Given the description of an element on the screen output the (x, y) to click on. 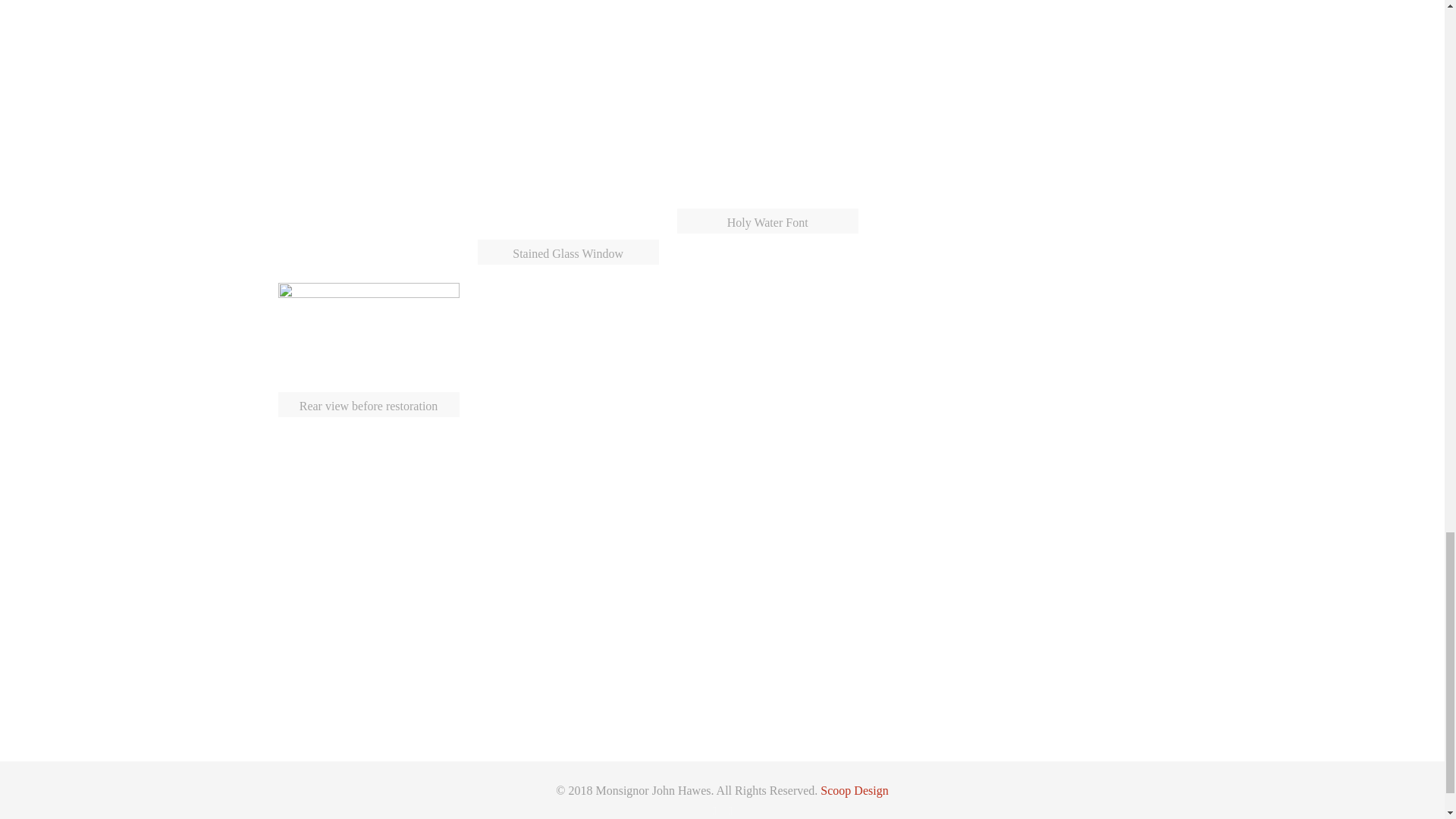
Tripadvisor (730, 810)
Facebook (713, 810)
